Given the description of an element on the screen output the (x, y) to click on. 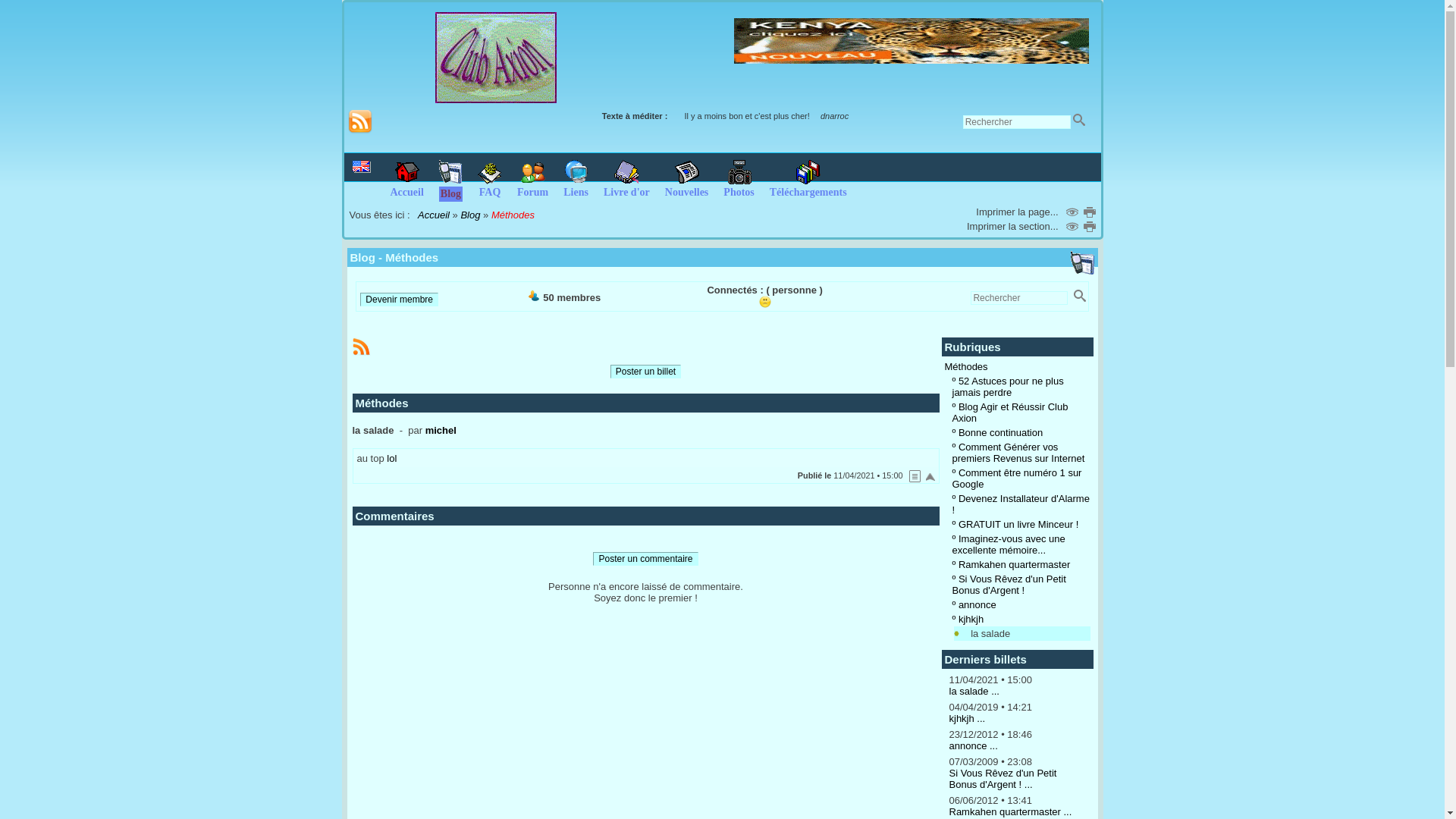
Livre d'or Element type: text (626, 186)
Flux RSS Element type: hover (359, 121)
http://cvoyages.fr Element type: hover (911, 40)
Nouvelles Element type: text (687, 186)
52 Astuces pour ne plus jamais perdre Element type: text (1007, 386)
Forum Element type: text (532, 186)
Photos Element type: text (738, 186)
Blog Element type: text (470, 214)
Tous les billets Element type: hover (914, 476)
Blog Element type: hover (450, 172)
FAQ Element type: hover (489, 172)
Blog Element type: text (450, 188)
Poster un billet Element type: text (645, 371)
la salade ... Element type: text (974, 690)
kjhkjh Element type: text (970, 618)
Snif !!! Element type: hover (765, 301)
annonce ... Element type: text (973, 745)
Liens Element type: hover (576, 172)
annonce Element type: text (977, 604)
Nombre de membres Element type: hover (533, 295)
Poster un commentaire Element type: text (645, 558)
Nouvelles Element type: hover (686, 172)
Ramkahen quartermaster Element type: text (1014, 564)
la salade Element type: text (986, 633)
Accueil Element type: text (406, 186)
Imprimer... Element type: hover (1089, 212)
Liens Element type: text (575, 186)
Photos Element type: hover (739, 172)
Ramkahen quartermaster ... Element type: text (1010, 811)
Imprimer... Element type: hover (1089, 226)
michel Element type: text (440, 430)
Accueil Element type: hover (407, 172)
lol Element type: text (391, 458)
Haut Element type: hover (929, 475)
Accueil Element type: text (433, 214)
Devenez Installateur d'Alarme ! Element type: text (1020, 503)
GRATUIT un livre Minceur ! Element type: text (1018, 524)
Bonne continuation Element type: text (1000, 432)
FAQ Element type: text (489, 186)
Livre d'or Element type: hover (626, 172)
Forum Element type: hover (532, 172)
Devenir membre Element type: text (399, 299)
http://cvoyages.fr Element type: hover (911, 59)
kjhkjh ... Element type: text (967, 718)
